Given the description of an element on the screen output the (x, y) to click on. 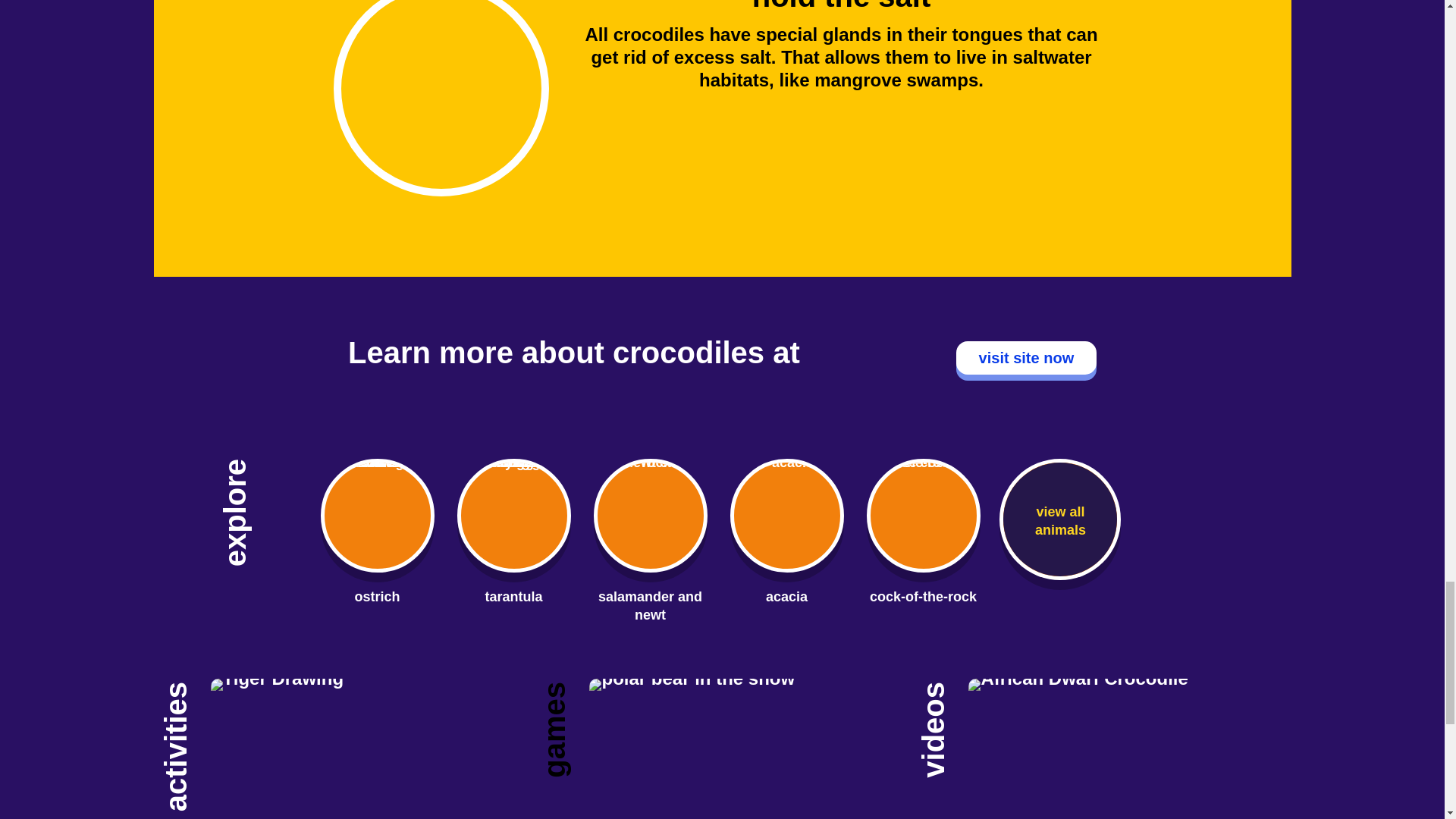
ostrich (375, 596)
salamander and newt (649, 605)
acacia (786, 596)
view all animals (1059, 518)
visit site now (1026, 357)
cock-of-the-rock (922, 596)
tarantula (512, 596)
